Given the description of an element on the screen output the (x, y) to click on. 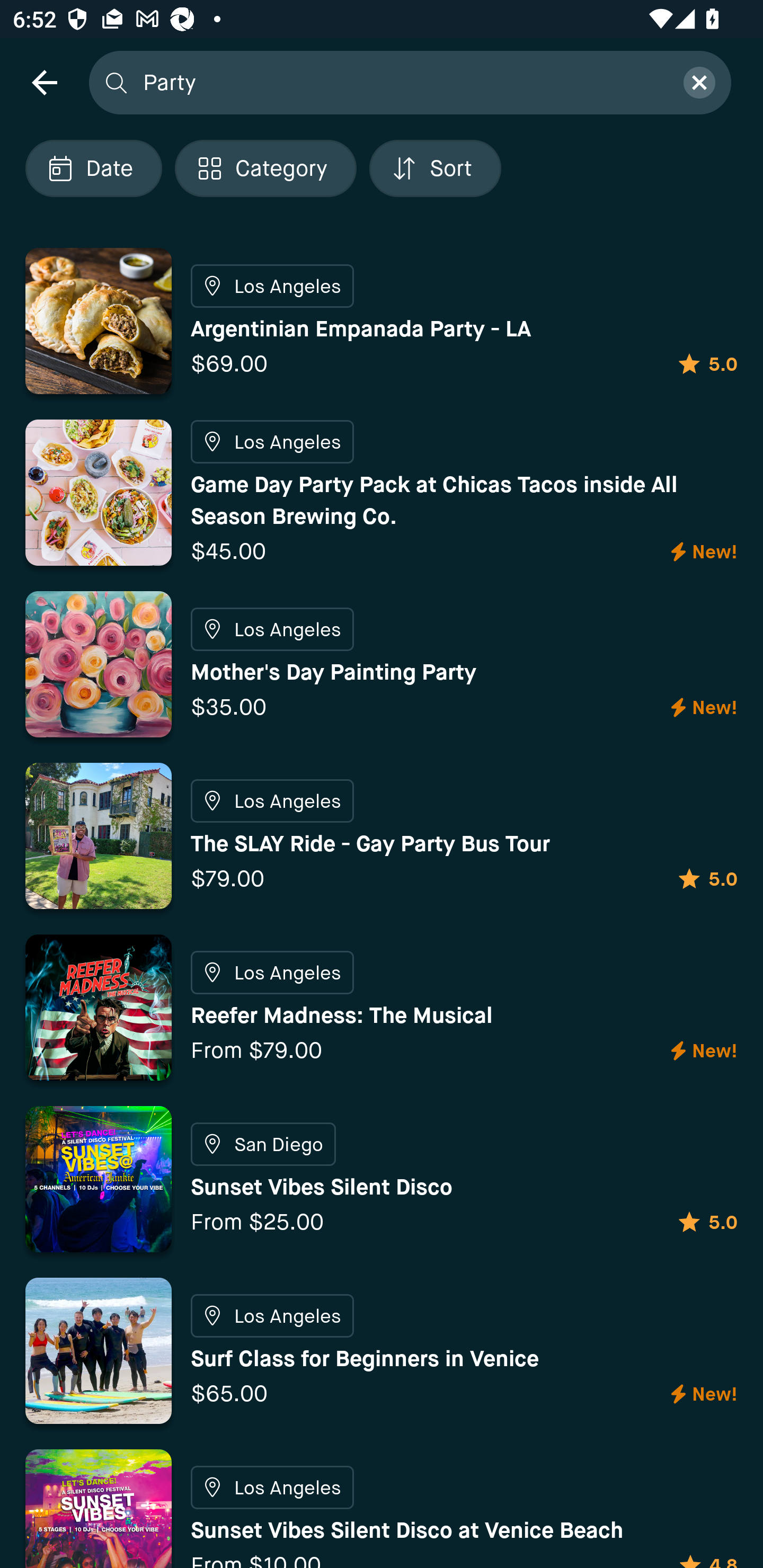
navigation icon (44, 81)
Party (402, 81)
Localized description Date (93, 168)
Localized description Category (265, 168)
Localized description Sort (435, 168)
